Given the description of an element on the screen output the (x, y) to click on. 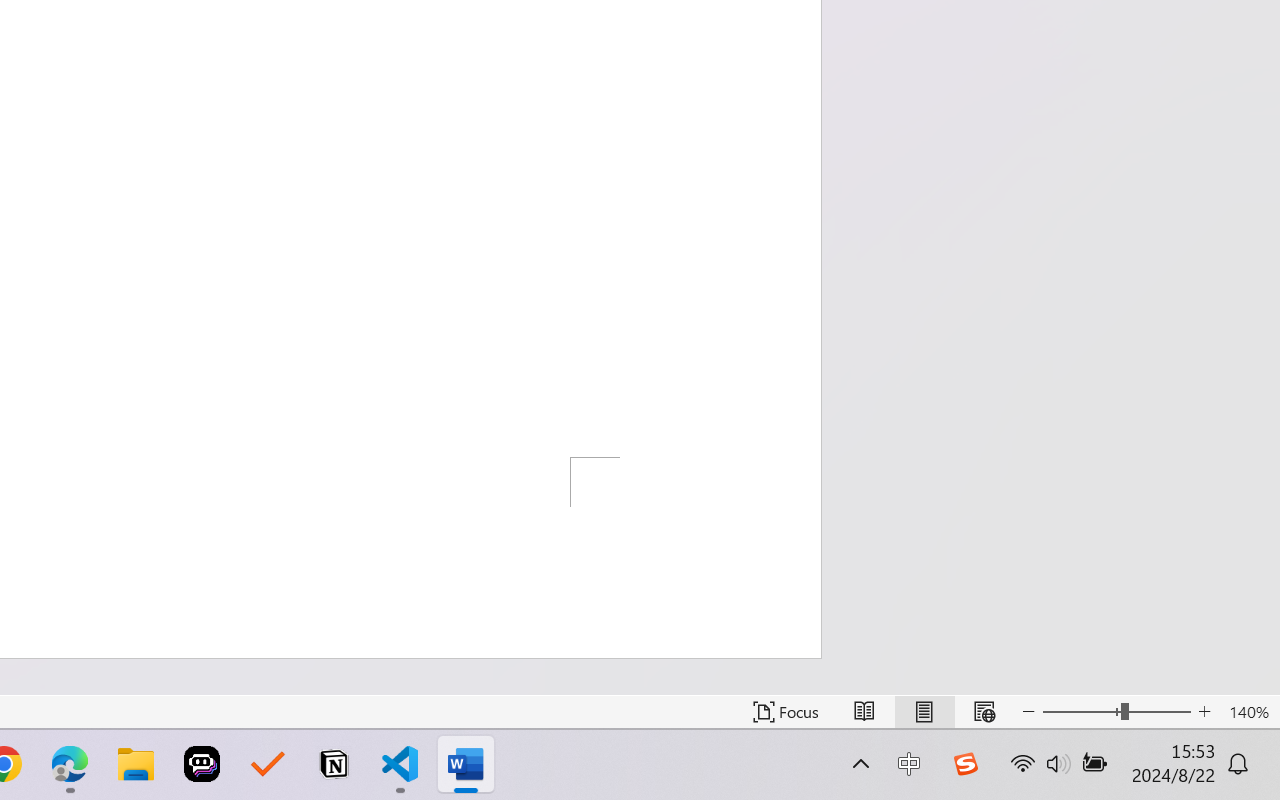
Zoom Out (1081, 712)
Class: Image (965, 764)
Focus  (786, 712)
Zoom 140% (1249, 712)
Zoom (1116, 712)
Zoom In (1204, 712)
Read Mode (864, 712)
Print Layout (924, 712)
Web Layout (984, 712)
